Given the description of an element on the screen output the (x, y) to click on. 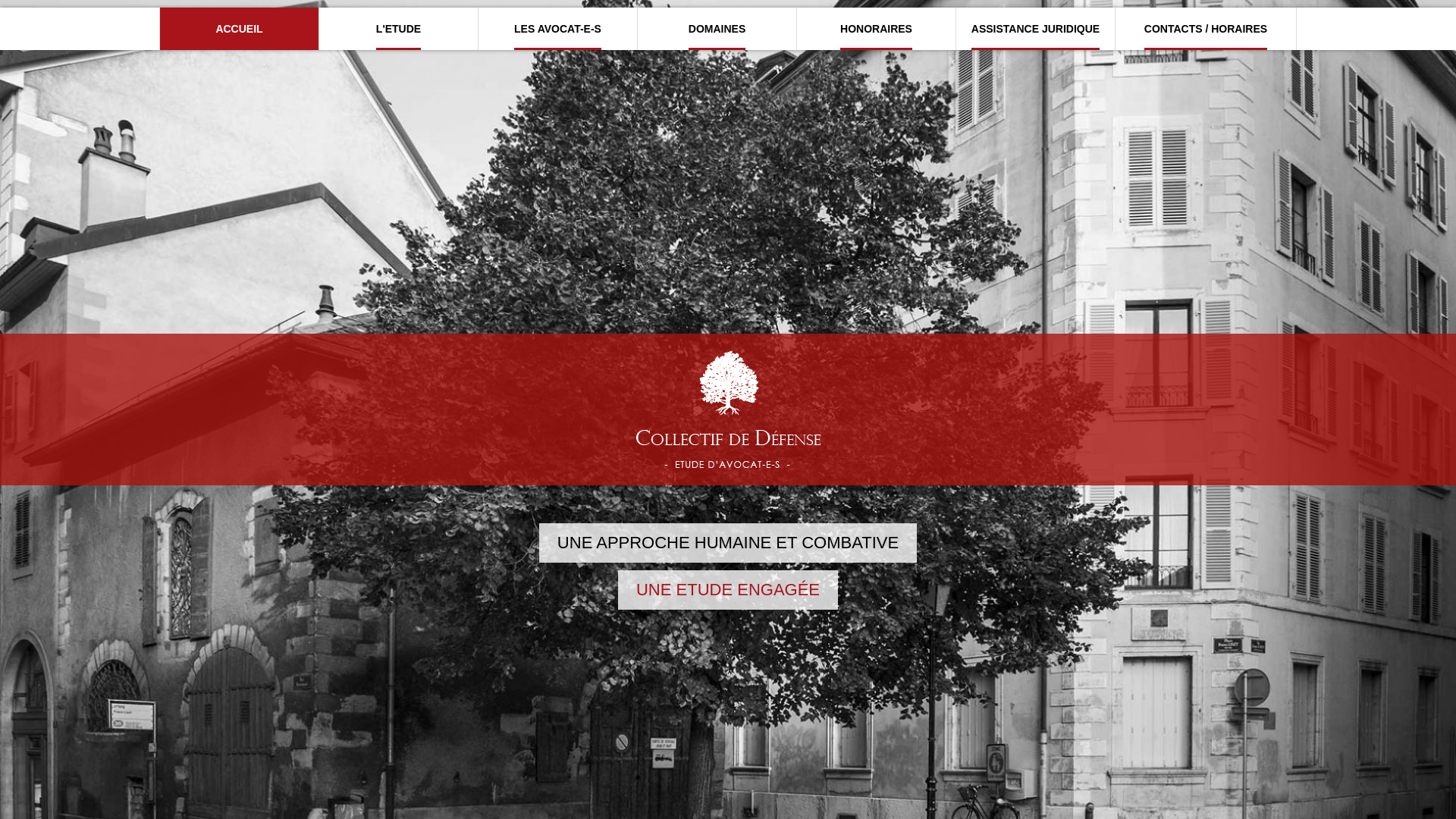
LES AVOCAT-E-S Element type: text (557, 37)
CONTACTS / HORAIRES Element type: text (1205, 37)
ASSISTANCE JURIDIQUE Element type: text (1034, 37)
ACCUEIL Element type: text (238, 37)
HONORAIRES Element type: text (875, 37)
DOMAINES Element type: text (716, 37)
L'ETUDE Element type: text (397, 37)
